Given the description of an element on the screen output the (x, y) to click on. 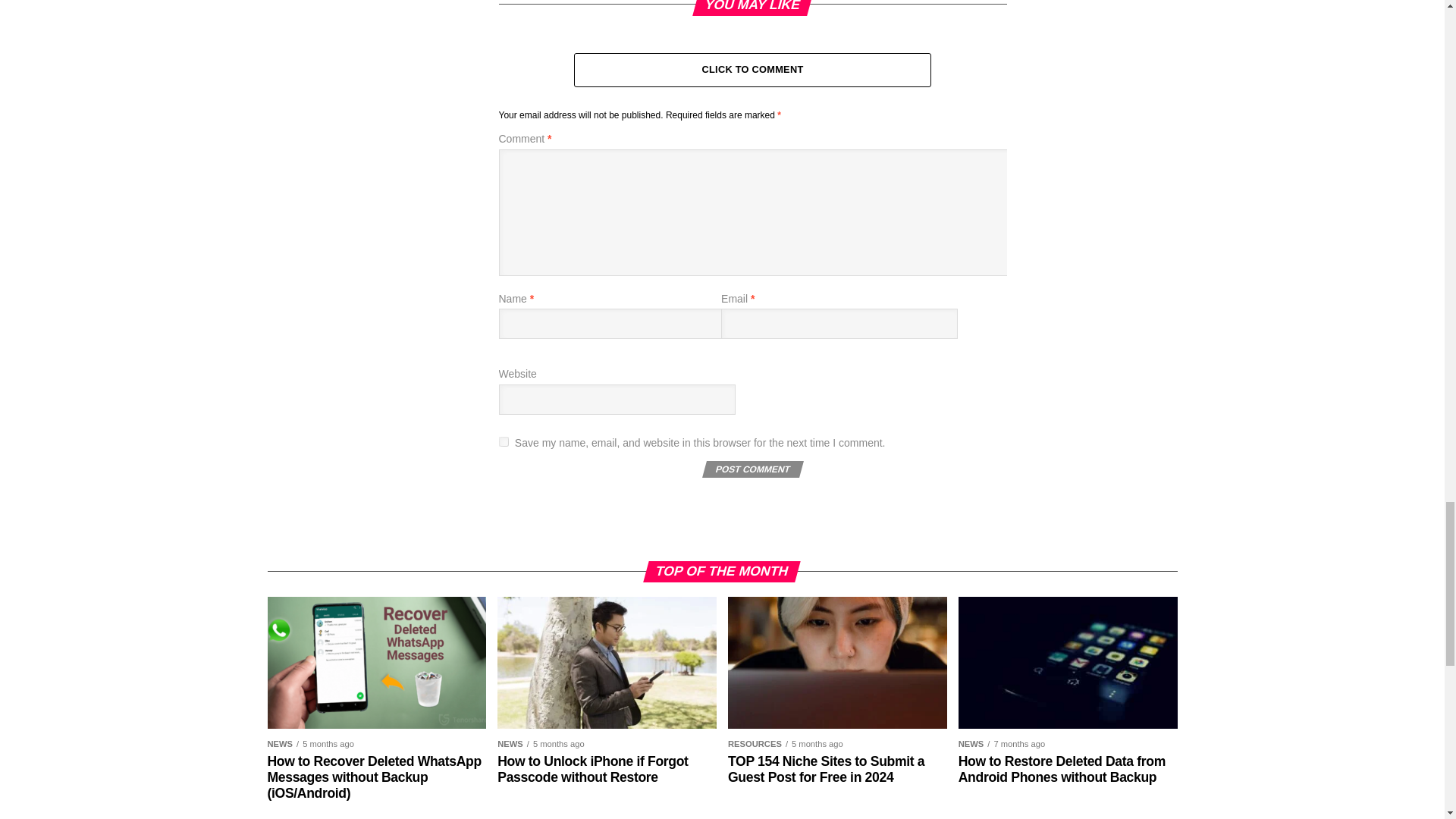
yes (503, 441)
Post Comment (750, 469)
